Given the description of an element on the screen output the (x, y) to click on. 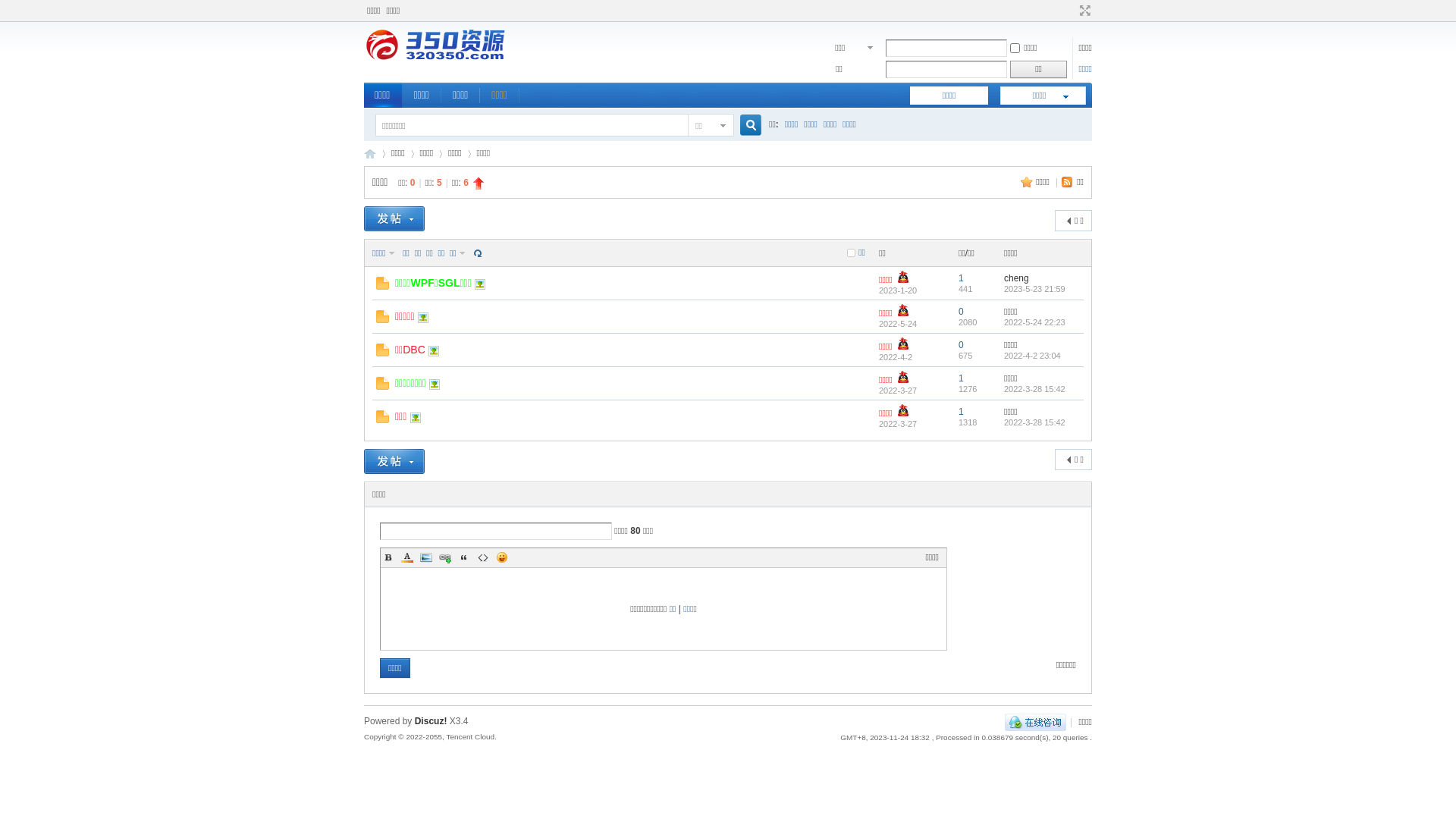
1 Element type: text (960, 278)
Code Element type: text (482, 556)
B Element type: text (387, 556)
Image Element type: text (425, 556)
0 Element type: text (960, 344)
2022-3-28 15:42 Element type: text (1034, 421)
Discuz! Element type: text (430, 720)
2022-4-2 23:04 Element type: text (1032, 354)
true Element type: text (745, 125)
2023-5-23 21:59 Element type: text (1034, 287)
Color Element type: text (406, 556)
QQ Element type: hover (1035, 721)
0 Element type: text (960, 311)
Quote Element type: text (463, 556)
1 Element type: text (960, 411)
1 Element type: text (960, 378)
2022-5-24 22:23 Element type: text (1034, 321)
Link Element type: text (444, 556)
Smilies Element type: text (501, 556)
2022-3-28 15:42 Element type: text (1034, 387)
cheng Element type: text (1016, 278)
